Given the description of an element on the screen output the (x, y) to click on. 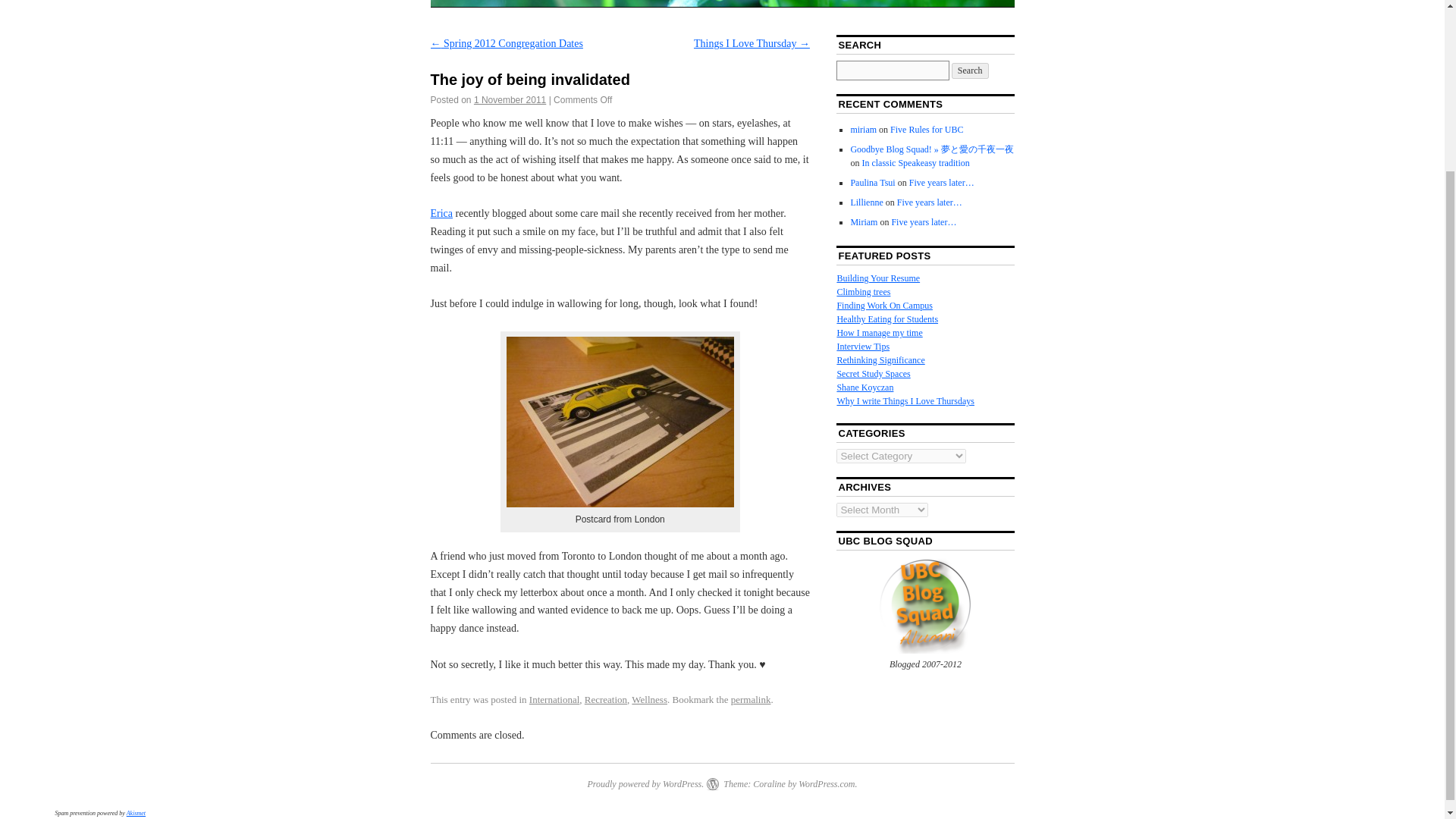
1 November 2011 (510, 100)
Secret Study Spaces (872, 373)
permalink (750, 699)
Search (970, 70)
Finding Work On Campus (884, 305)
In classic Speakeasy tradition (915, 163)
A Semantic Personal Publishing Platform (644, 783)
International (554, 699)
Shane Koyczan (864, 387)
Healthy Eating for Students (886, 318)
